Given the description of an element on the screen output the (x, y) to click on. 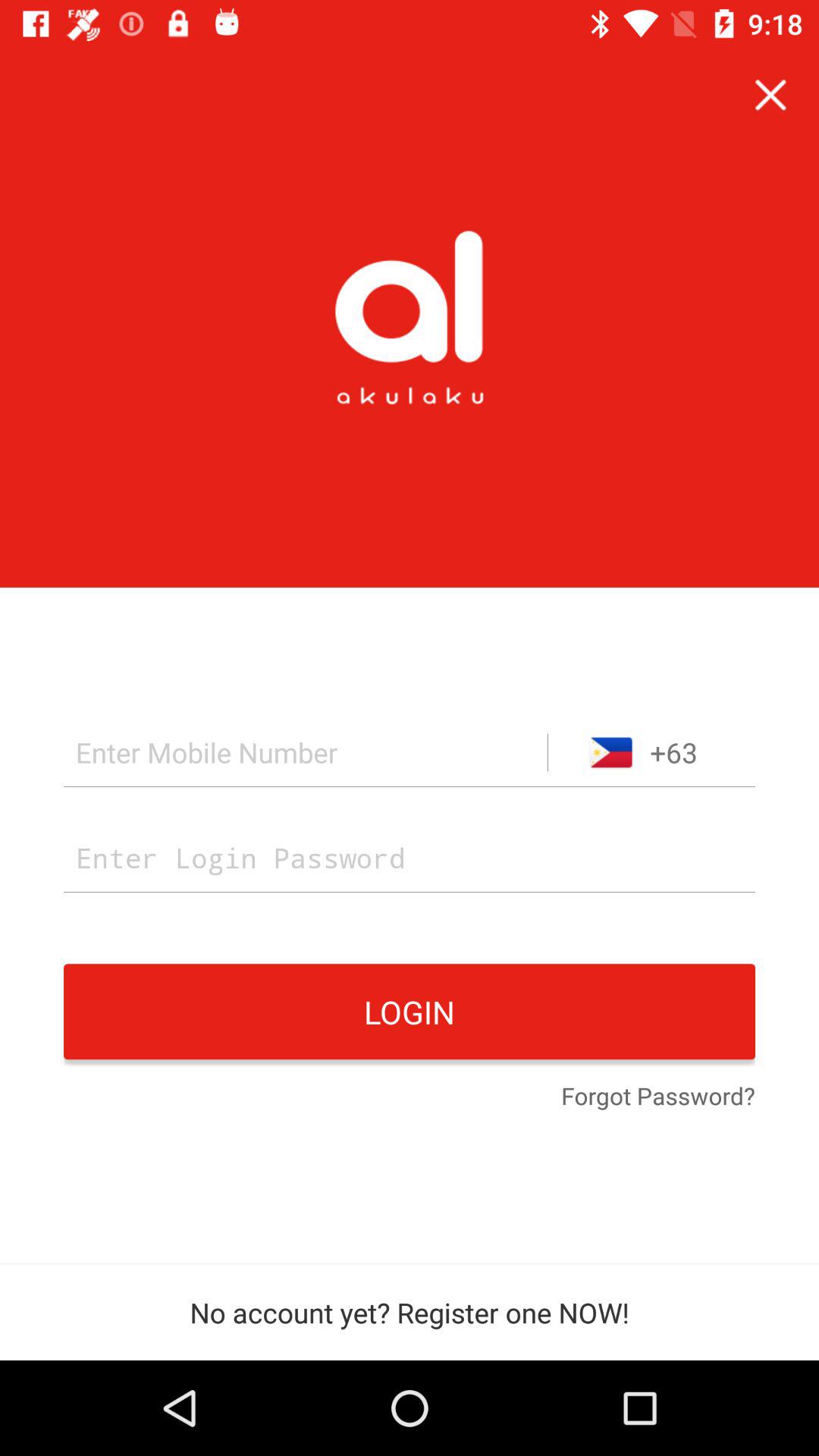
enter mobile number (305, 752)
